Given the description of an element on the screen output the (x, y) to click on. 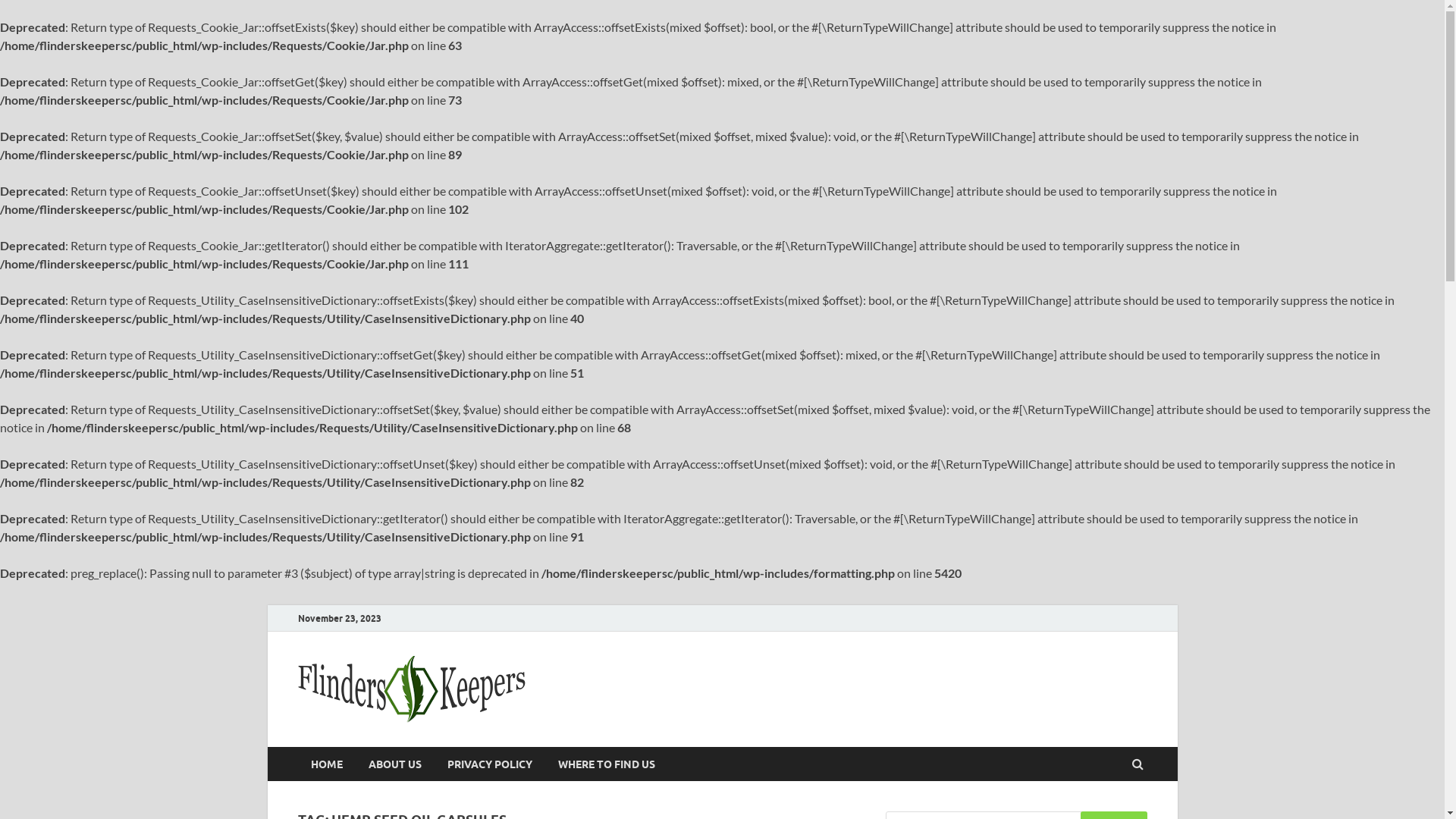
HOME Element type: text (325, 763)
PRIVACY POLICY Element type: text (488, 763)
ABOUT US Element type: text (393, 763)
Flinders Keepers Element type: text (649, 670)
WHERE TO FIND US Element type: text (605, 763)
